Given the description of an element on the screen output the (x, y) to click on. 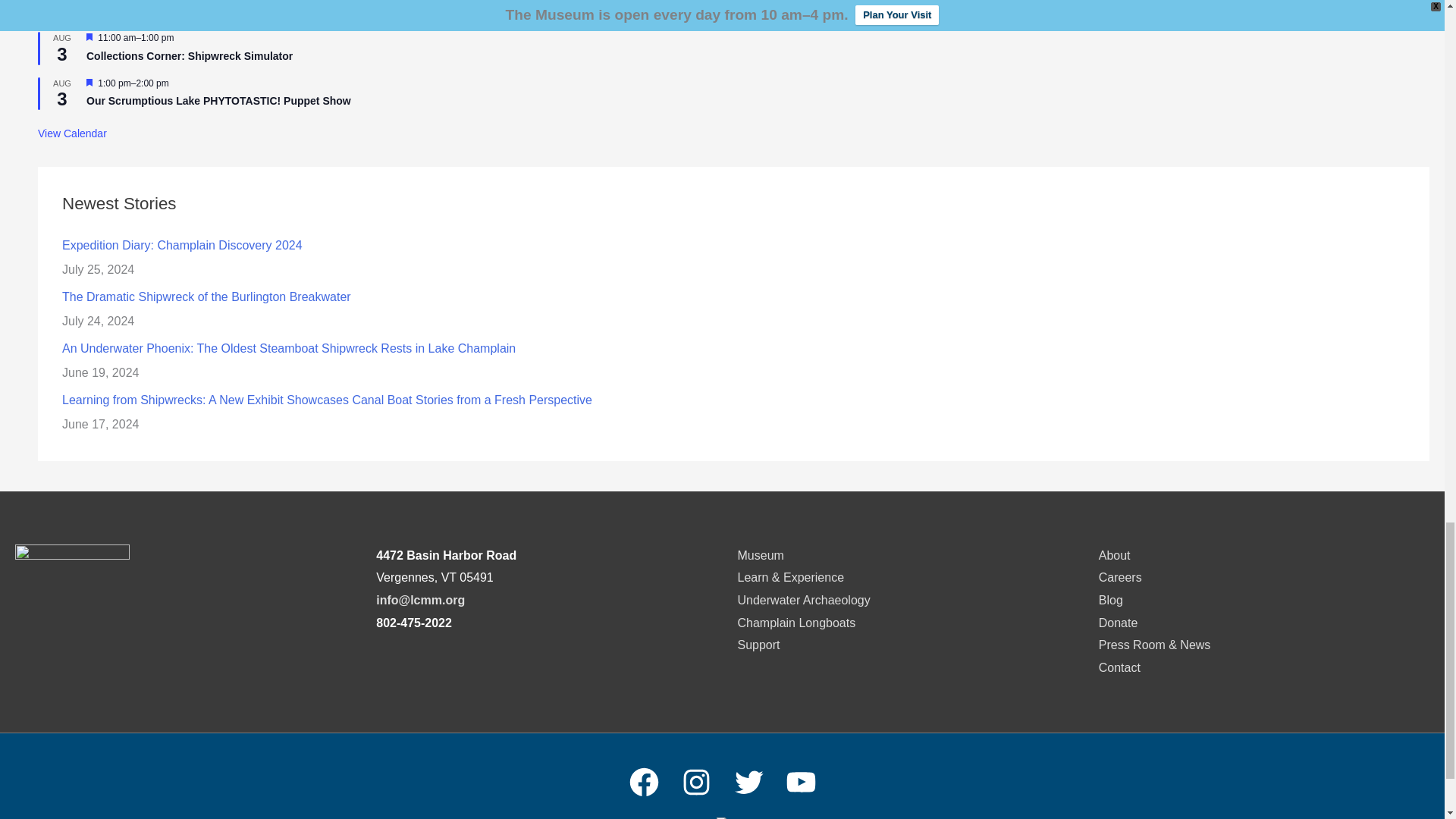
Collections Corner: Shipwreck Simulator (188, 56)
Birding and Boating (136, 11)
Our Scrumptious Lake PHYTOTASTIC! Puppet Show (217, 101)
View more events. (71, 133)
